Given the description of an element on the screen output the (x, y) to click on. 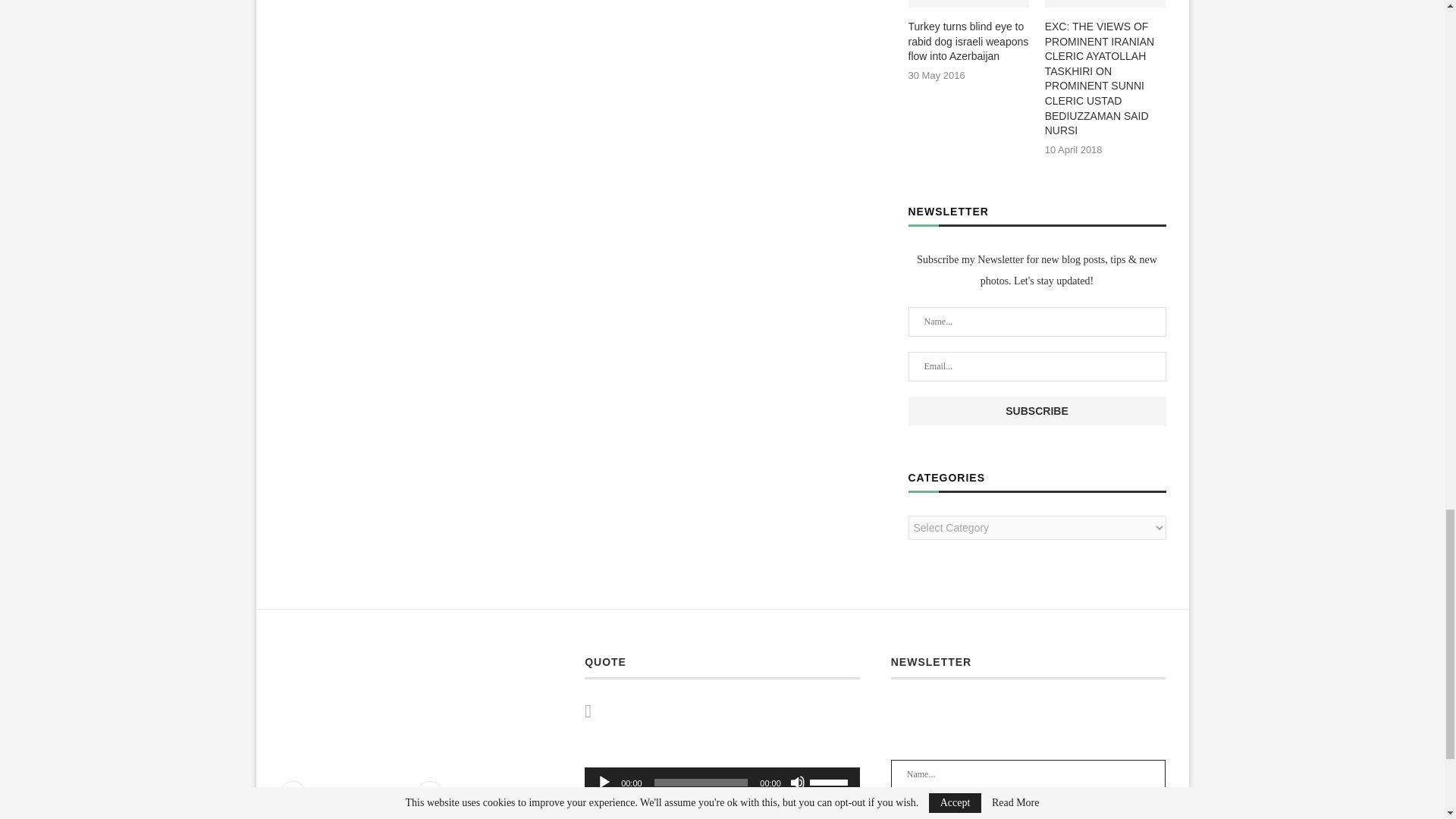
Subscribe (1037, 410)
